Given the description of an element on the screen output the (x, y) to click on. 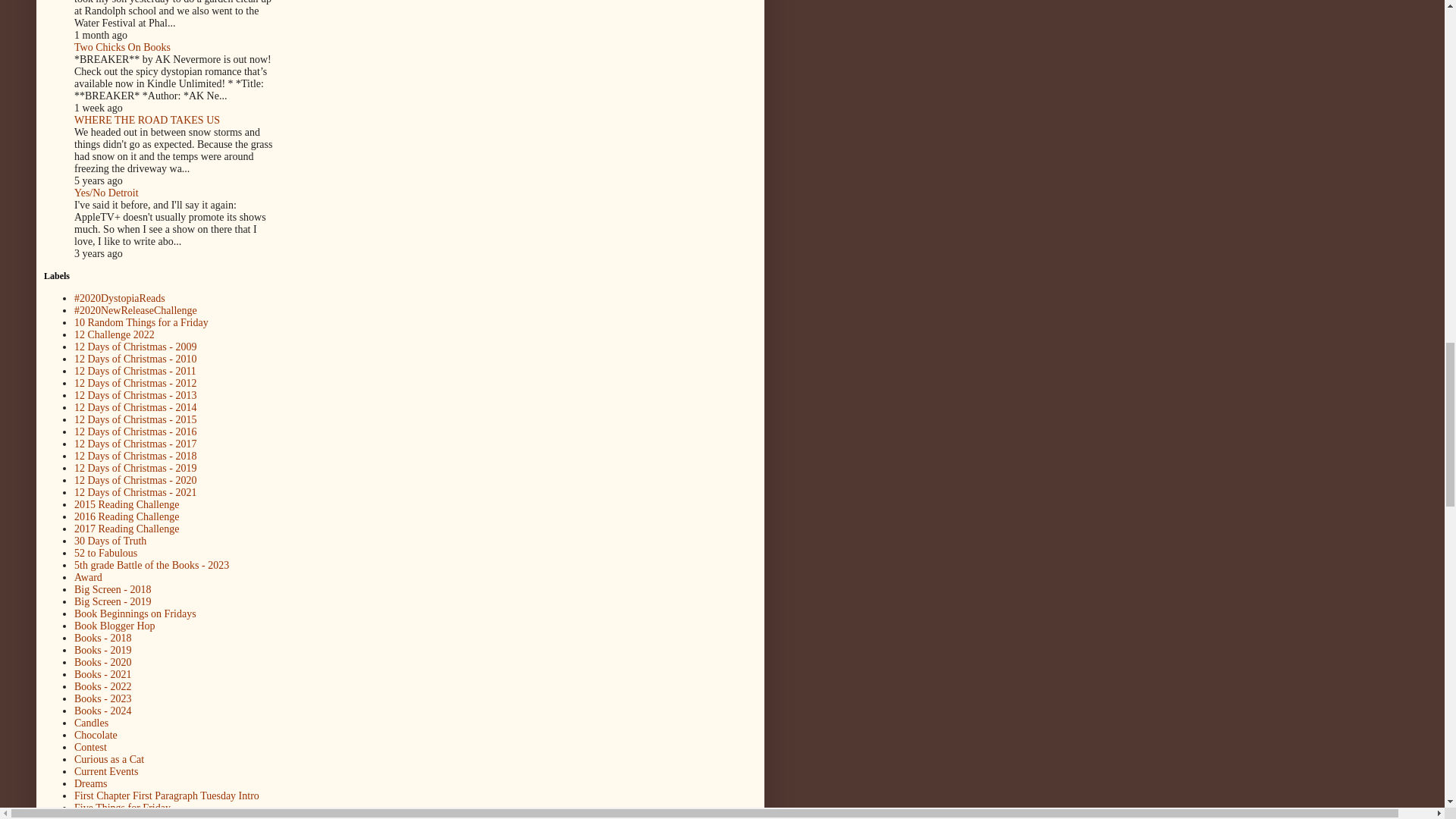
Two Chicks On Books (122, 47)
10 Random Things for a Friday (141, 322)
12 Challenge 2022 (114, 334)
12 Days of Christmas - 2010 (135, 358)
WHERE THE ROAD TAKES US (146, 120)
12 Days of Christmas - 2009 (135, 346)
